Given the description of an element on the screen output the (x, y) to click on. 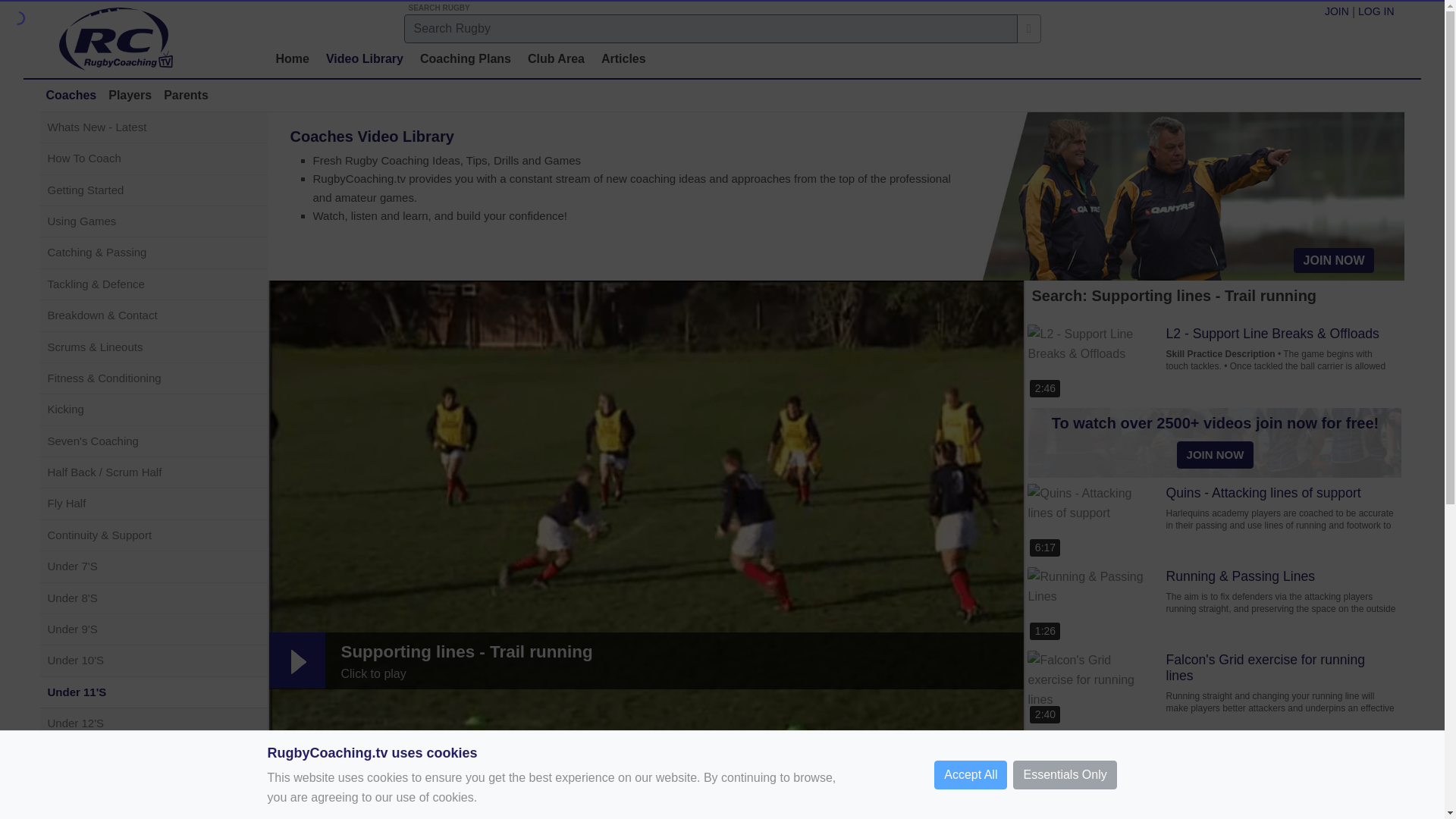
LOG IN (1375, 11)
Coaching Plans (464, 59)
Articles (623, 59)
Home (292, 59)
Whats New - Latest (156, 127)
Club Area (556, 59)
Parents (185, 95)
Coaches (70, 95)
Video Library (364, 59)
JOIN (1337, 11)
Players (129, 95)
